Given the description of an element on the screen output the (x, y) to click on. 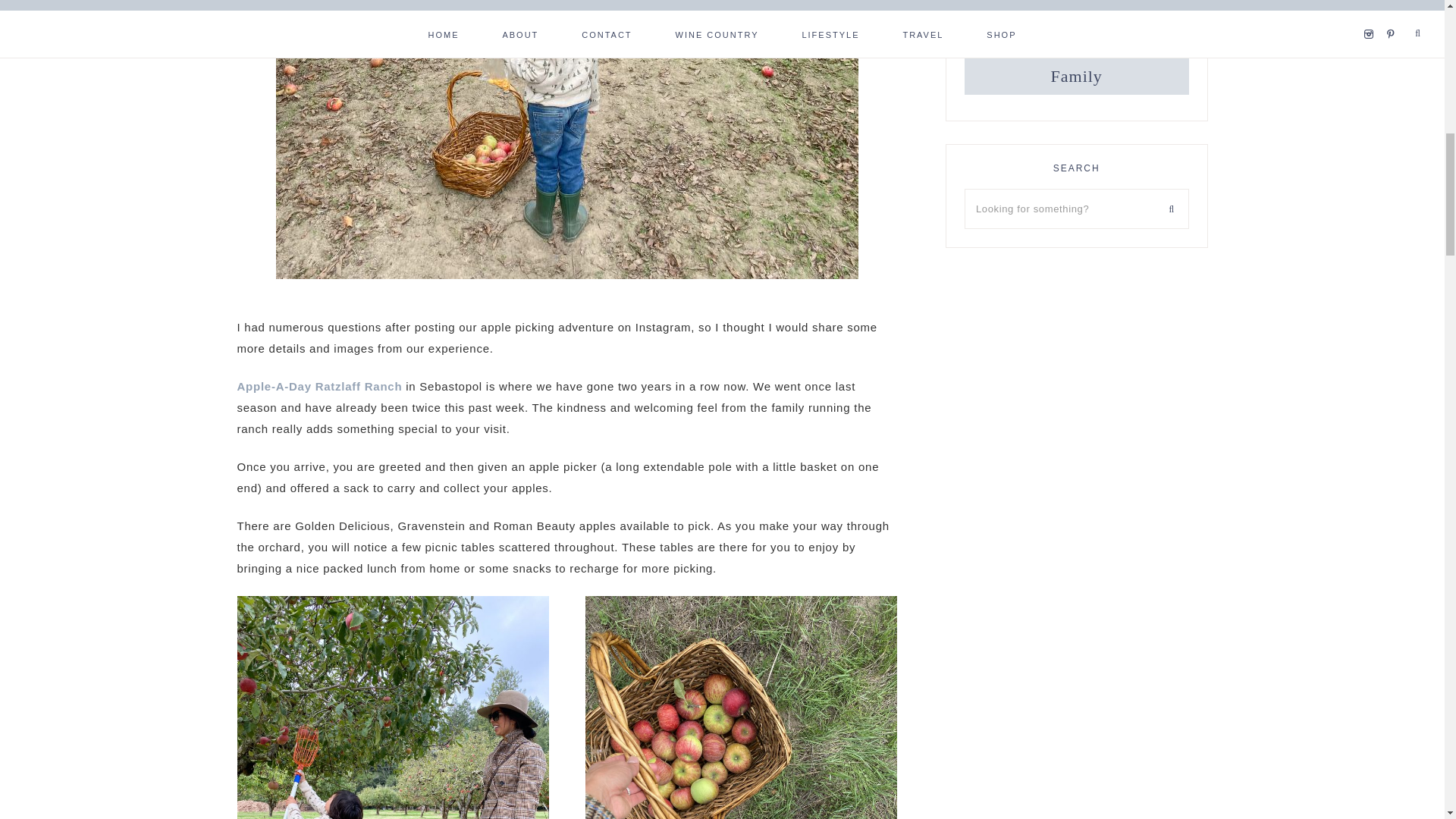
Apple-A-Day Ratzlaff Ranch (318, 386)
